Given the description of an element on the screen output the (x, y) to click on. 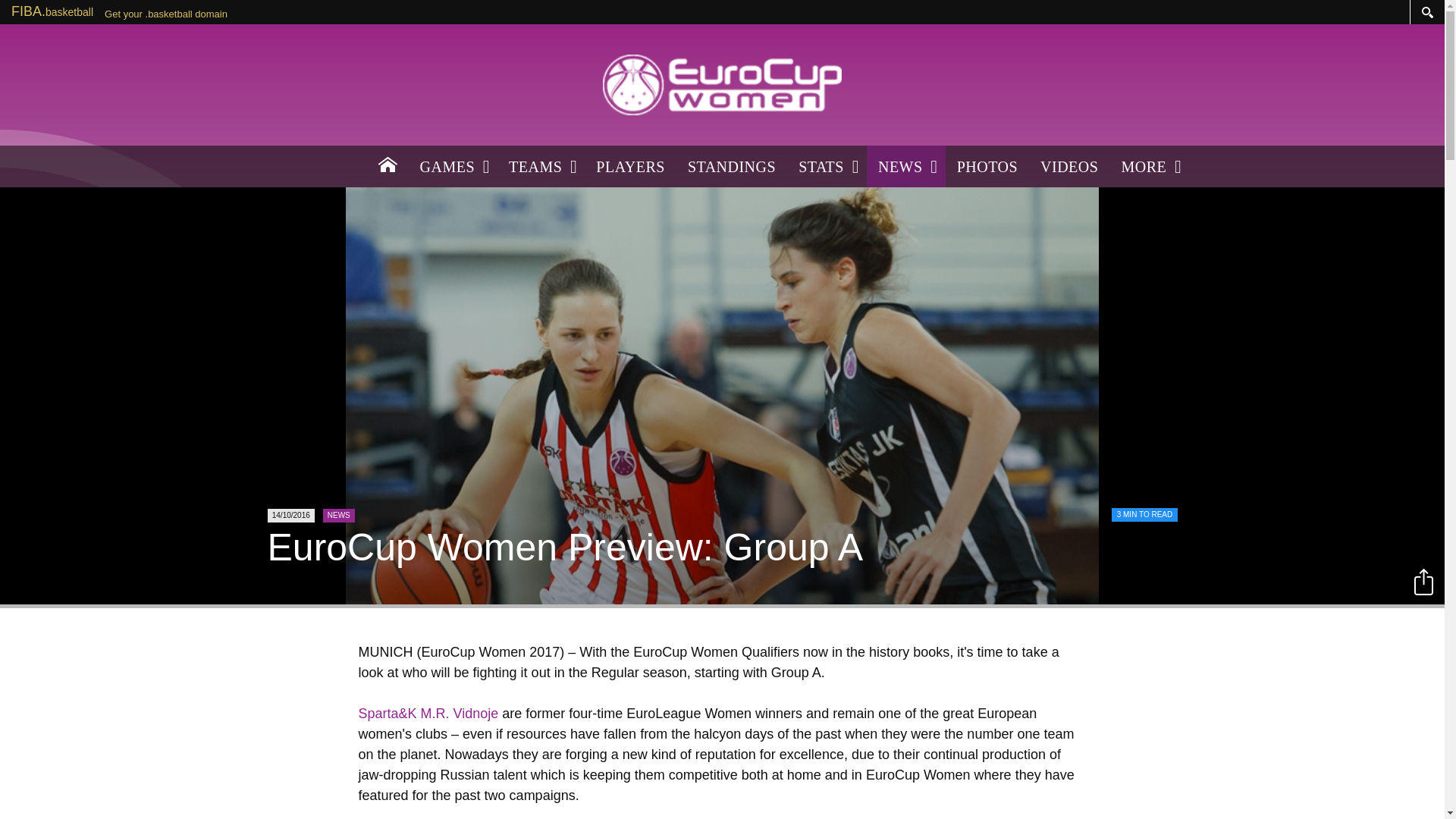
GAMES (452, 166)
FIBA.basketball (52, 11)
TEAMS (541, 166)
Get your .basketball domain (165, 13)
